Given the description of an element on the screen output the (x, y) to click on. 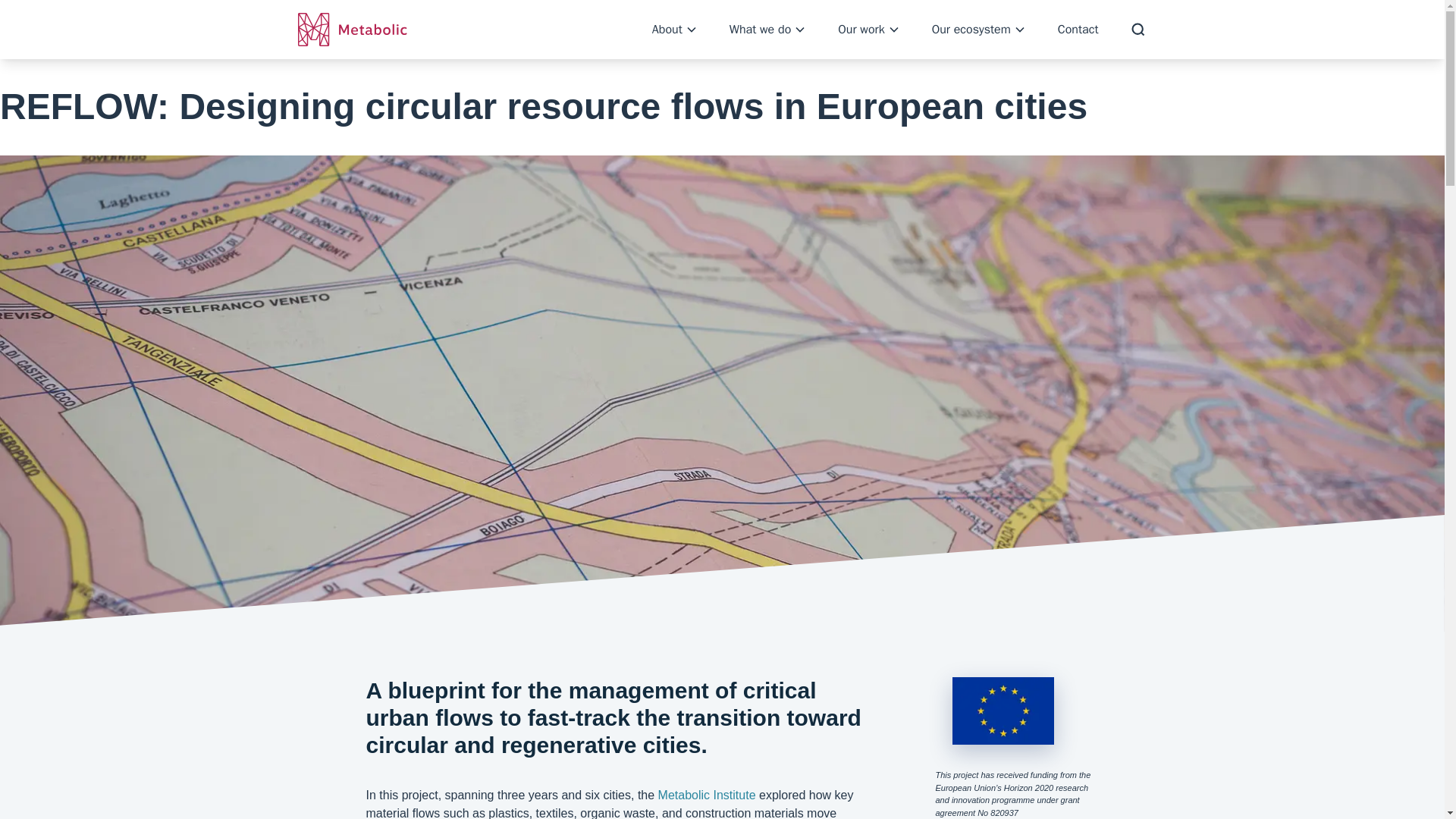
Our ecosystem (979, 29)
About (675, 29)
Our work (868, 29)
What we do (768, 29)
Contact (1077, 29)
